Given the description of an element on the screen output the (x, y) to click on. 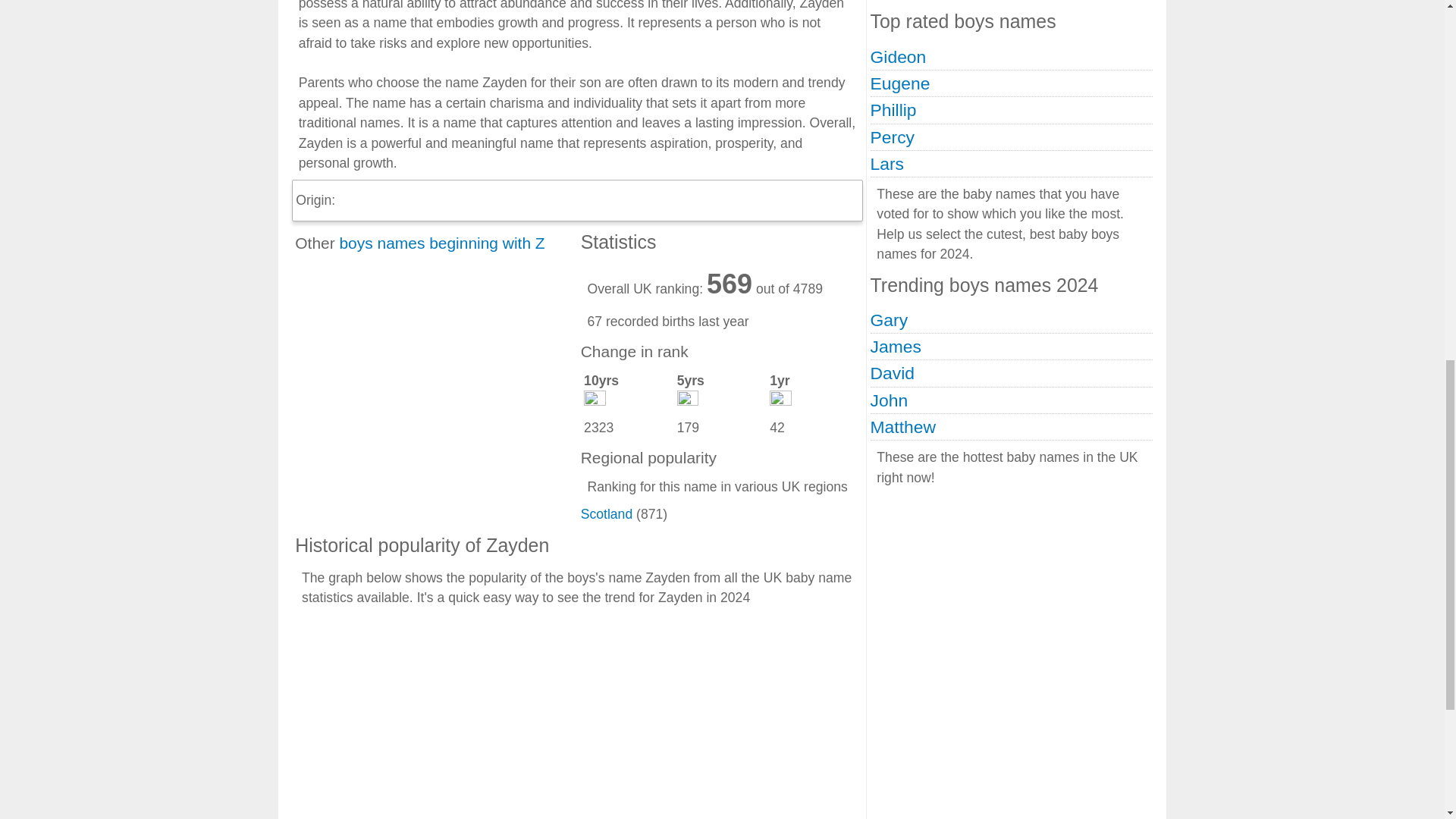
Matthew (903, 426)
Percy (892, 137)
Gary (889, 320)
John (889, 400)
David (892, 373)
Phillip (893, 109)
Gideon (898, 56)
Eugene (900, 83)
boys names beginning with Z (441, 242)
Scotland (605, 513)
